Given the description of an element on the screen output the (x, y) to click on. 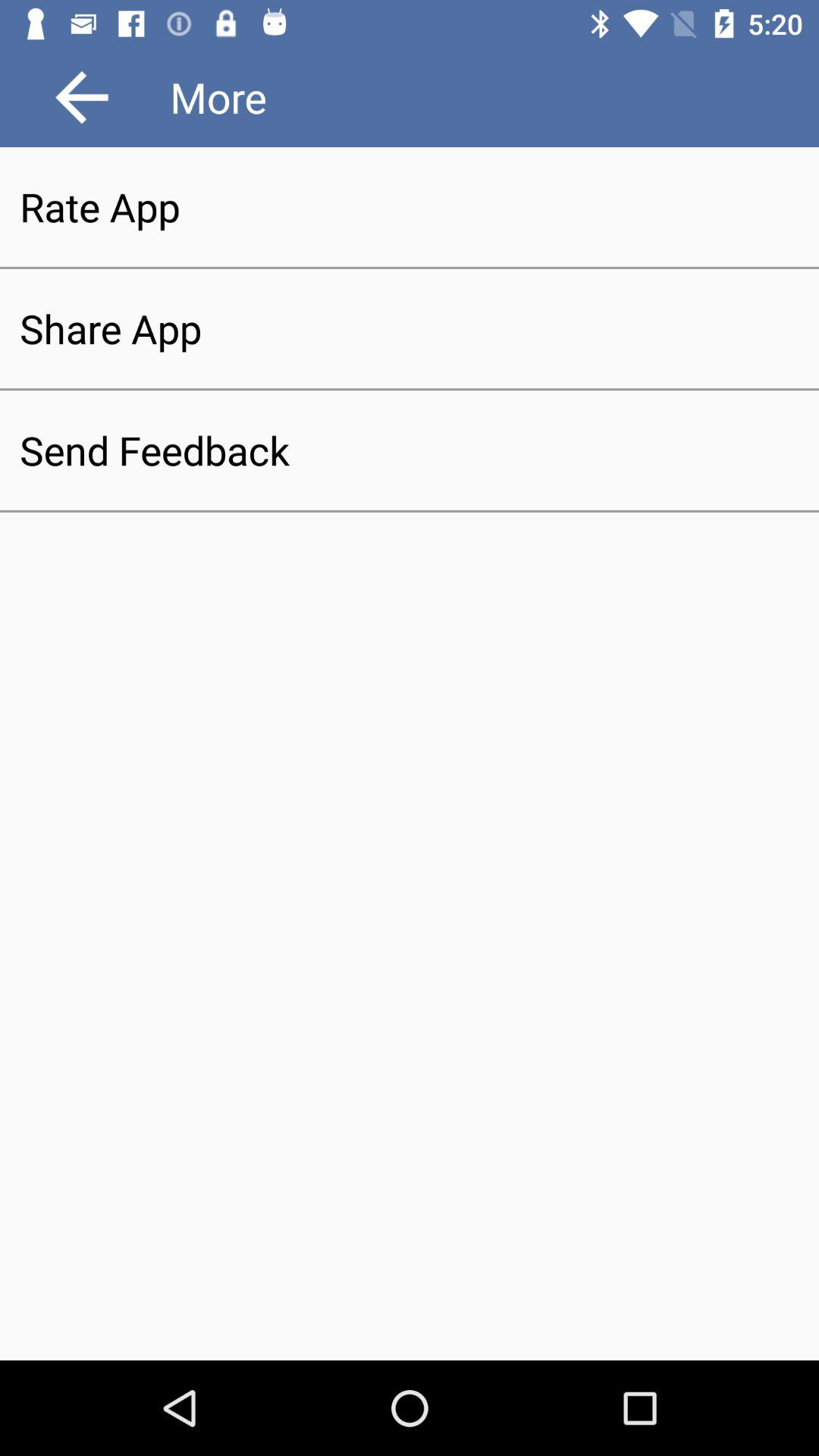
open icon at the top left corner (81, 97)
